Given the description of an element on the screen output the (x, y) to click on. 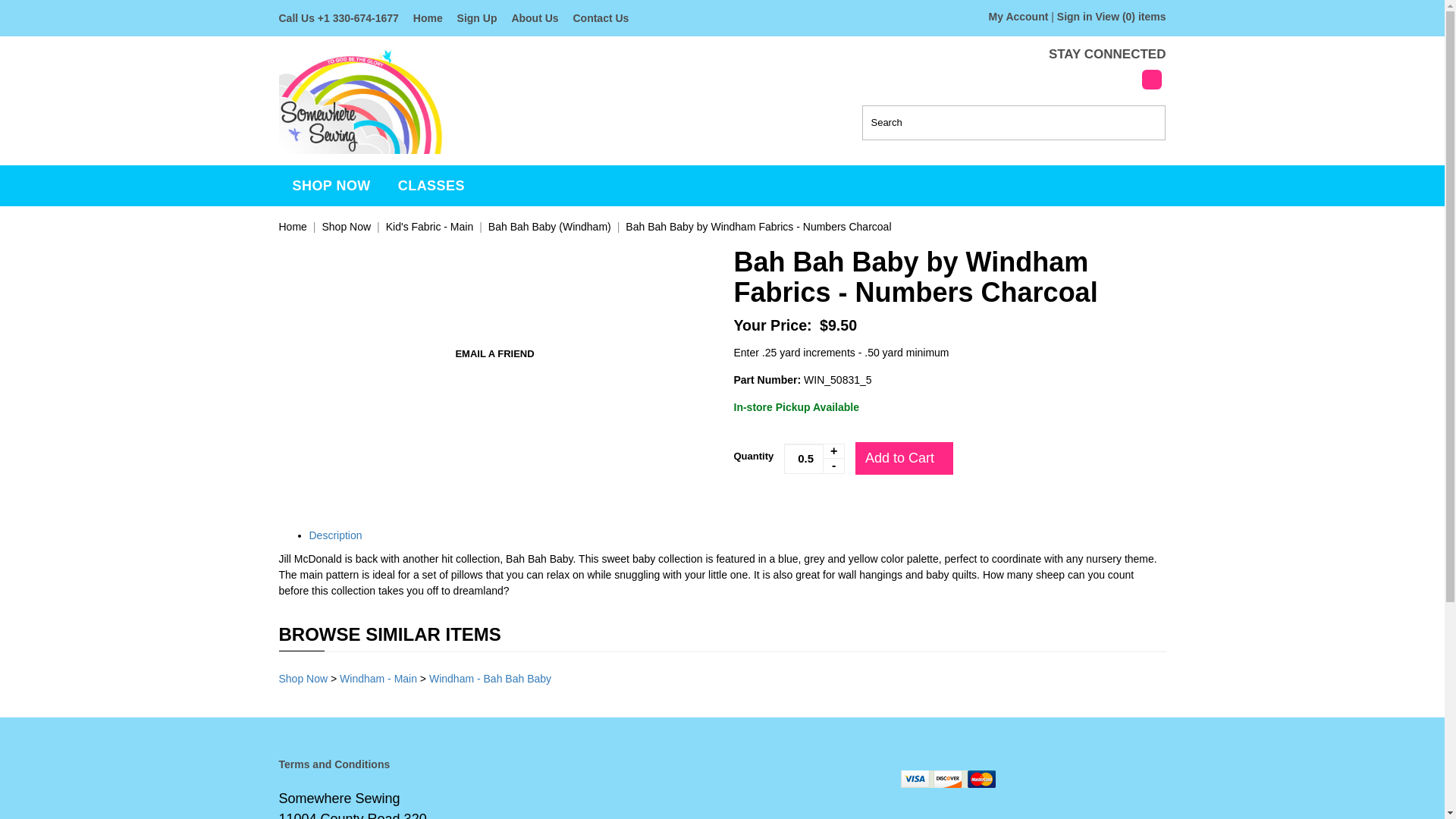
Home (427, 18)
SHOP NOW (331, 185)
Bah Bah Baby by Windham Fabrics - Numbers Charcoal (758, 226)
Home (293, 226)
Sign in (1075, 16)
0.5 (814, 458)
EMAIL A FRIEND (494, 354)
CLASSES (431, 185)
Description (335, 535)
Kid's Fabric - Main (429, 226)
